Given the description of an element on the screen output the (x, y) to click on. 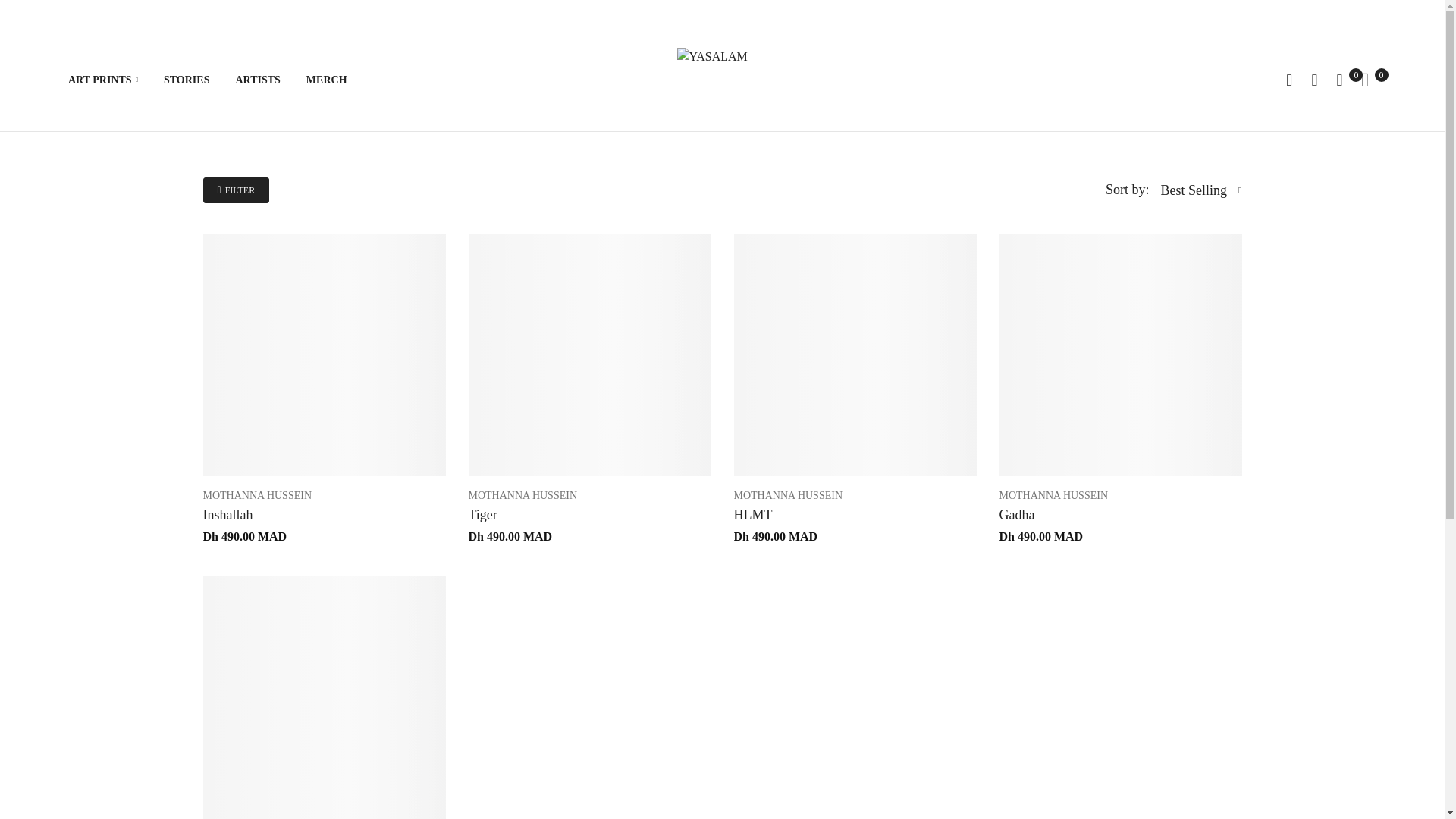
ART PRINTS (114, 79)
MERCH (337, 79)
Mothanna Hussein (1053, 495)
STORIES (197, 79)
YASALAM (722, 79)
Mothanna Hussein (258, 495)
ARTISTS (268, 79)
Mothanna Hussein (523, 495)
Mothanna Hussein (788, 495)
